Given the description of an element on the screen output the (x, y) to click on. 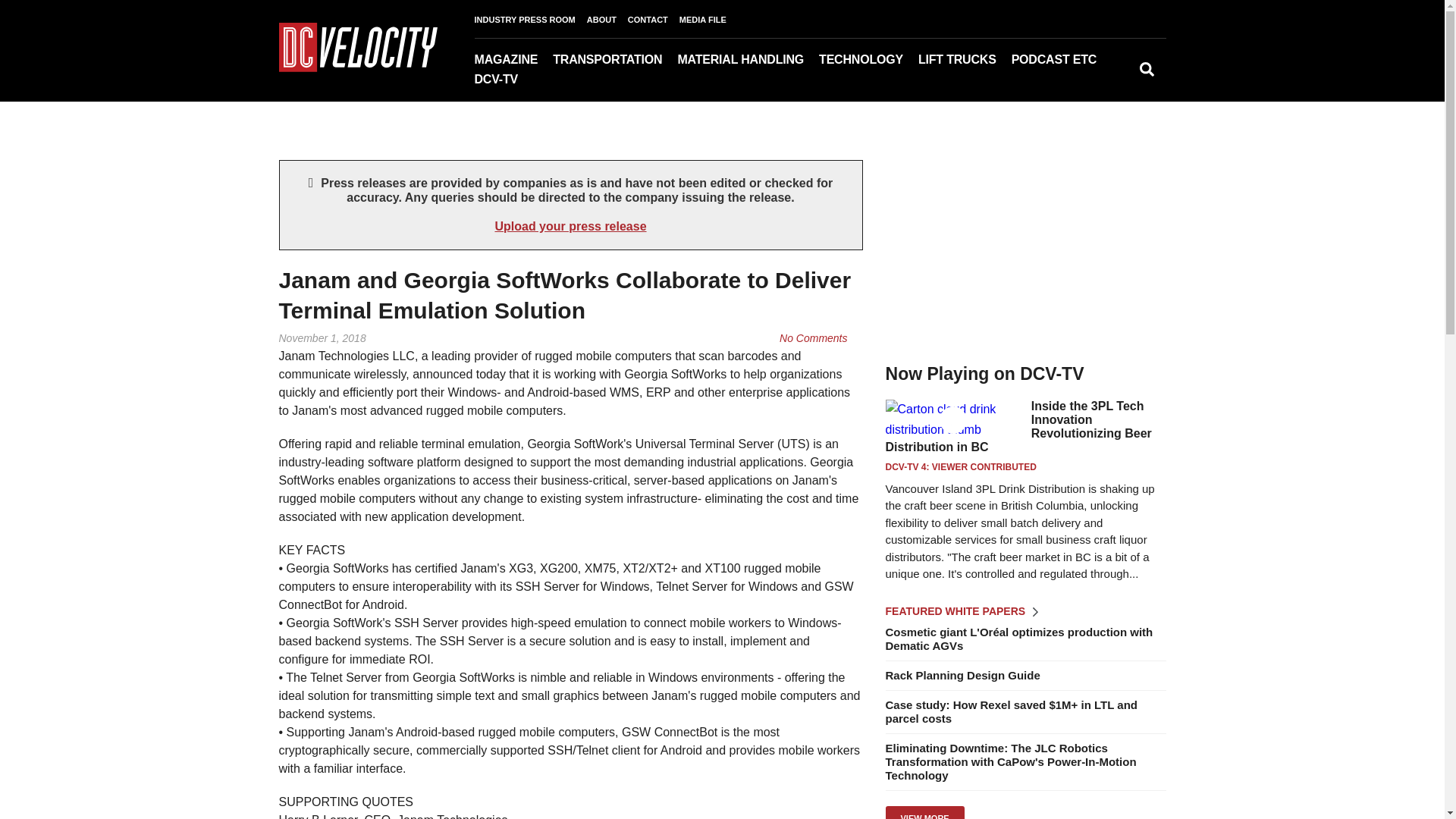
MATERIAL HANDLING (747, 59)
CONTACT (653, 19)
Events (1103, 81)
PODCAST ETC (1061, 59)
TECHNOLOGY (868, 59)
White Papers (1108, 81)
New Products (1115, 81)
Webcasts (1093, 81)
ABOUT (606, 19)
